Given the description of an element on the screen output the (x, y) to click on. 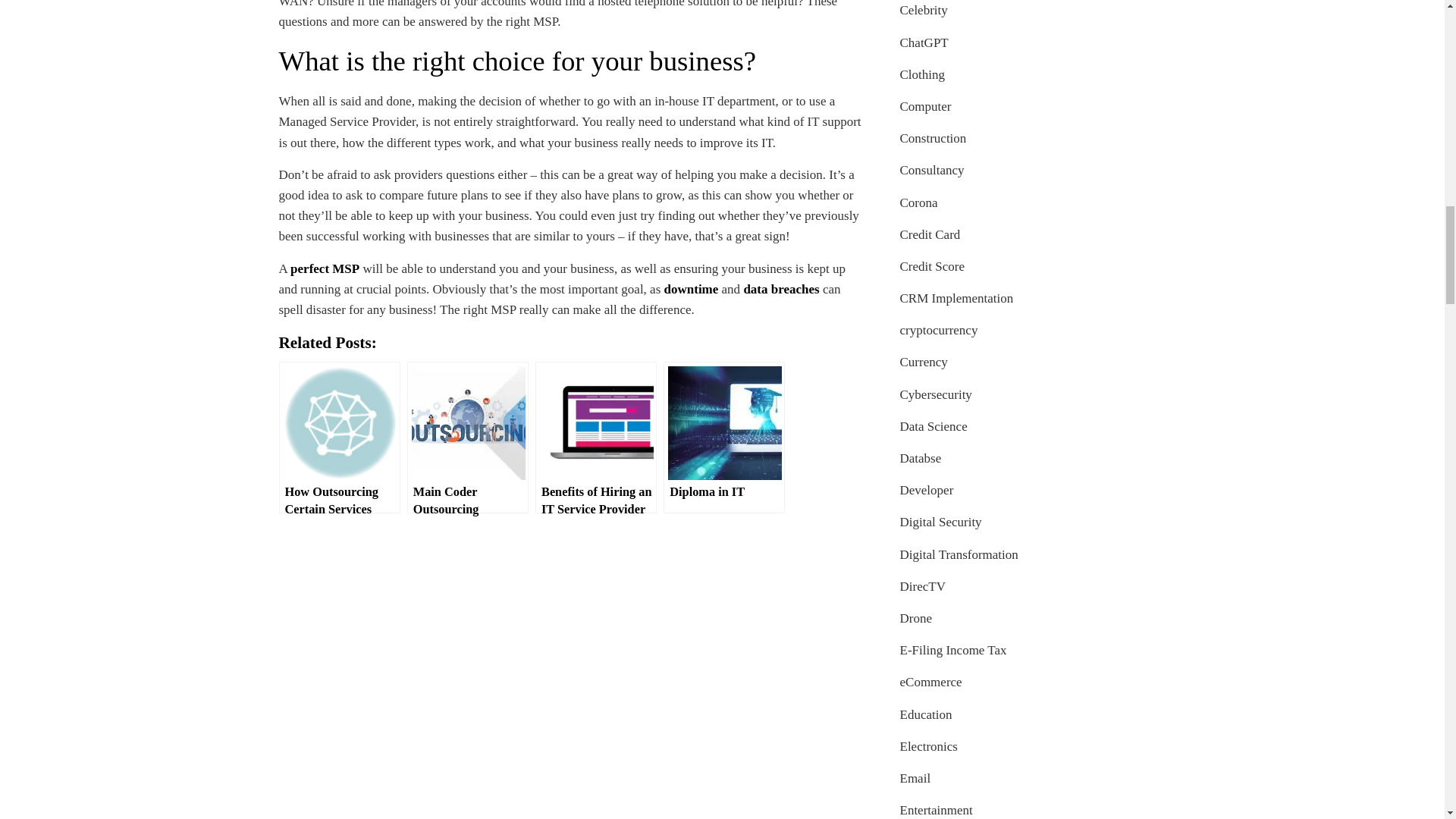
downtime (691, 288)
data breaches (780, 288)
perfect MSP (324, 268)
